Given the description of an element on the screen output the (x, y) to click on. 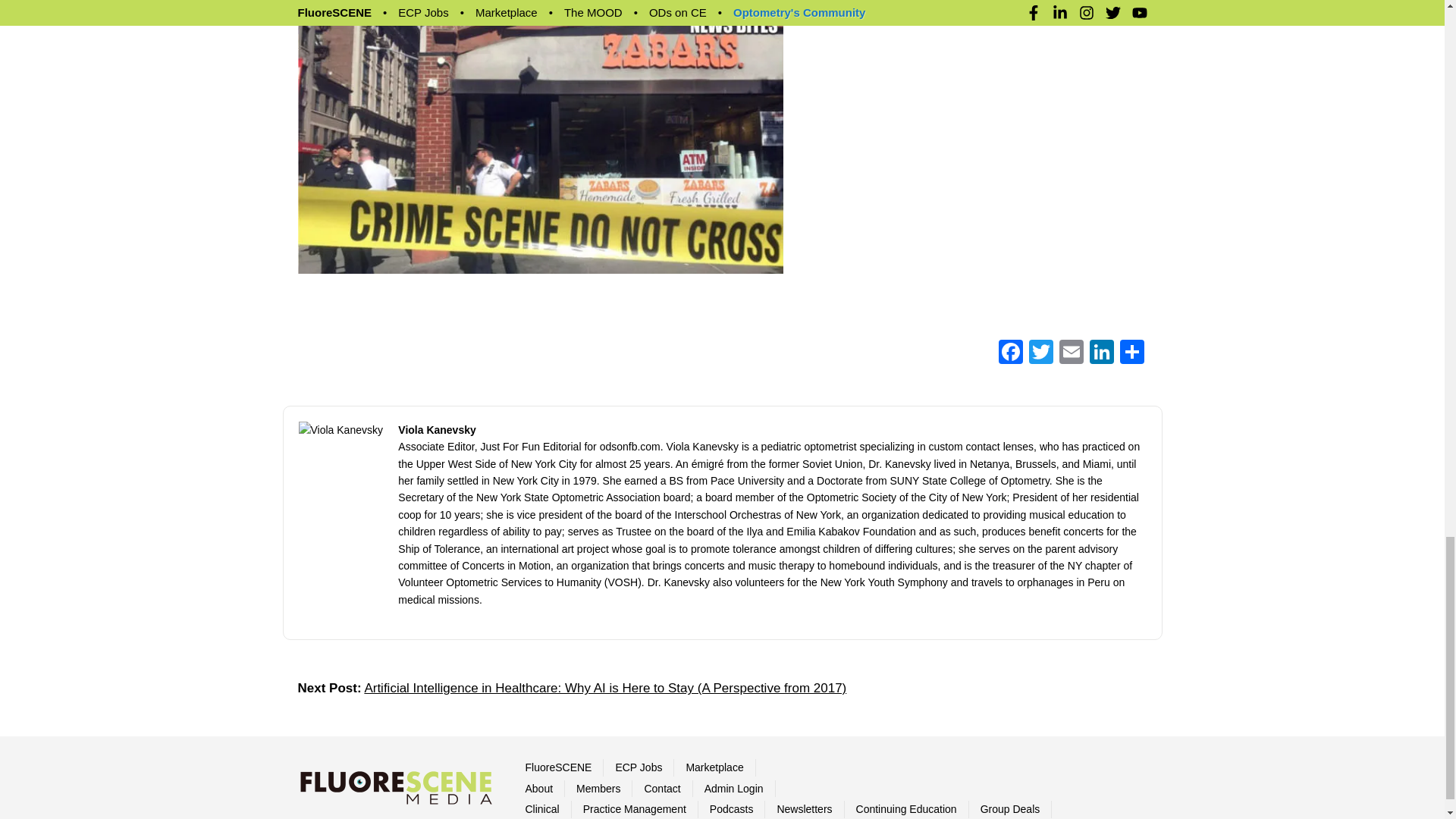
LinkedIn (1101, 353)
Marketplace (713, 767)
ECP Jobs (638, 767)
Email (1070, 353)
Facebook (1009, 353)
Contact (661, 788)
Members (598, 788)
About (538, 788)
FluoreSCENE (557, 767)
Practice Management (634, 808)
